Given the description of an element on the screen output the (x, y) to click on. 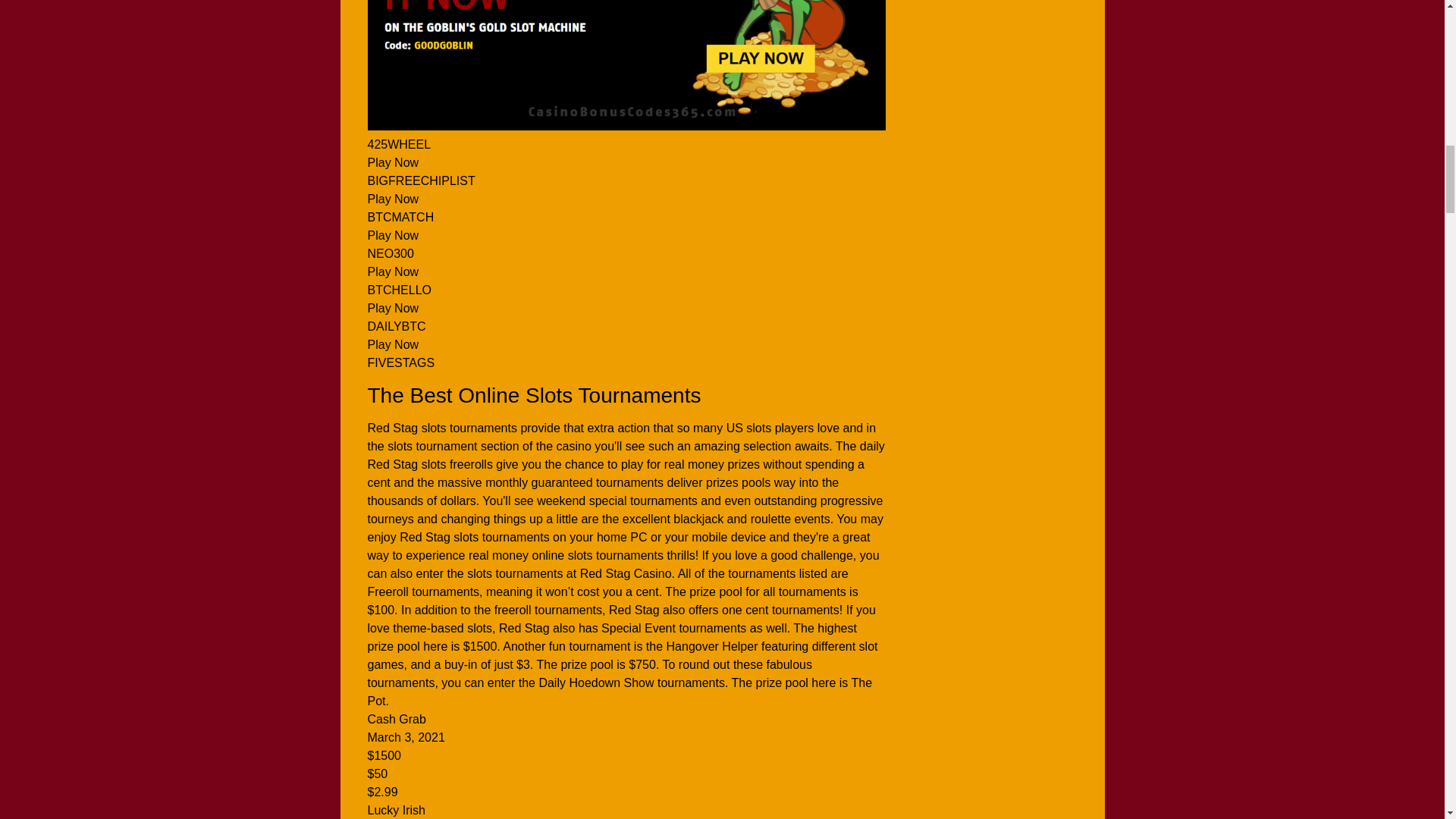
Codes (625, 65)
